Given the description of an element on the screen output the (x, y) to click on. 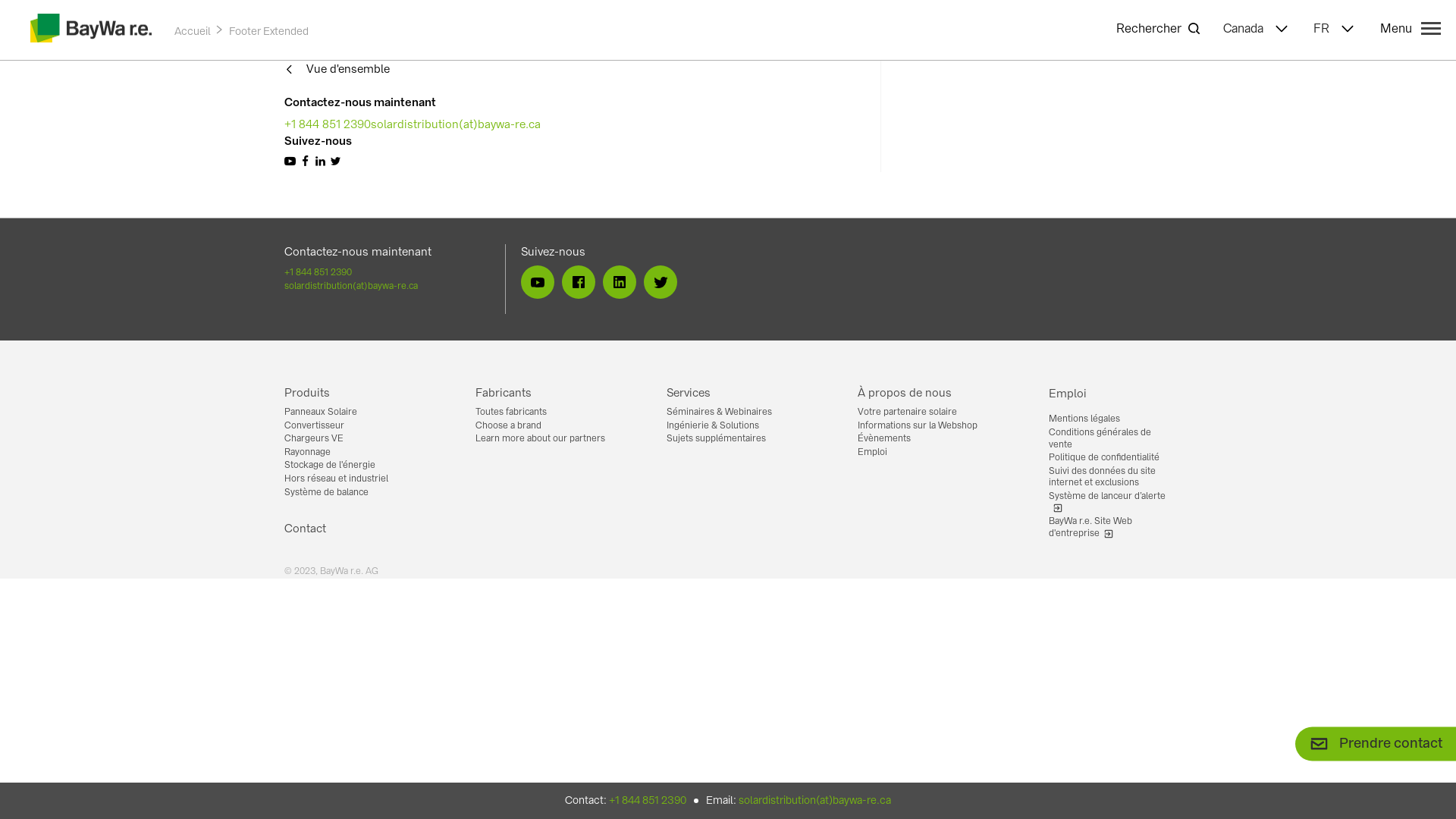
Chargeurs VE Element type: text (364, 438)
Emploi Element type: text (1109, 393)
+1 844 851 2390 Element type: text (387, 272)
+1 844 851 2390 Element type: text (647, 799)
Learn more about our partners Element type: text (555, 438)
Informations sur la Webshop Element type: text (937, 426)
solardistribution(at)baywa-re.ca Element type: text (455, 124)
Accueil Element type: text (192, 30)
Votre partenaire solaire Element type: text (937, 412)
Vue d'ensemble Element type: text (336, 69)
Convertisseur Element type: text (364, 426)
BayWa r.e. Site Web d'entreprise Element type: text (1109, 526)
solardistribution(at)baywa-re.ca Element type: text (814, 799)
Emploi Element type: text (937, 452)
Toutes fabricants Element type: text (555, 412)
Choose a brand Element type: text (555, 426)
Panneaux Solaire Element type: text (364, 412)
Rayonnage Element type: text (364, 452)
+1 844 851 2390 Element type: text (327, 124)
solardistribution(at)baywa-re.ca Element type: text (387, 285)
